Given the description of an element on the screen output the (x, y) to click on. 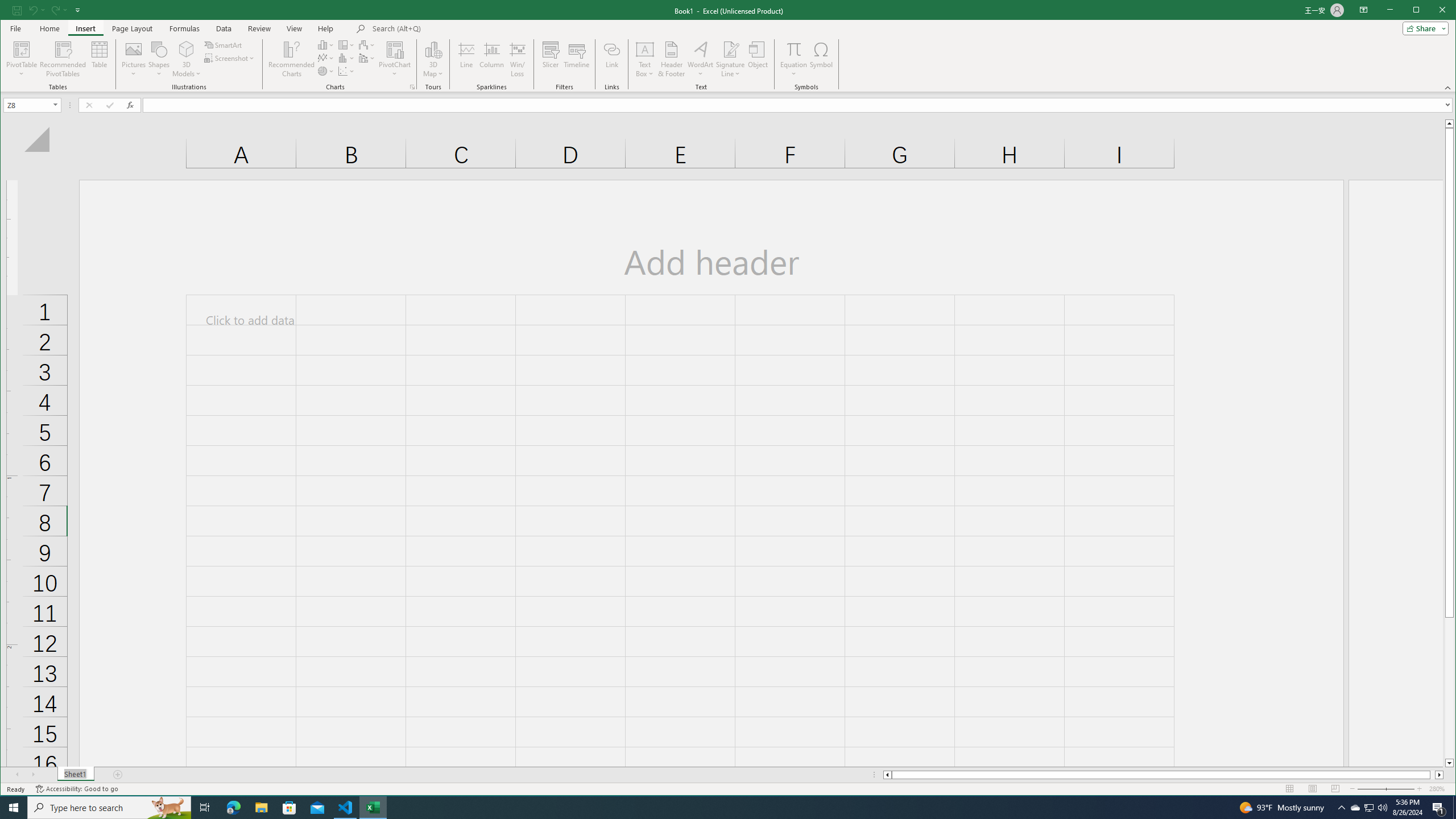
Symbol... (821, 59)
Win/Loss (517, 59)
Notification Chevron (1341, 807)
Insert Column or Bar Chart (325, 44)
